Given the description of an element on the screen output the (x, y) to click on. 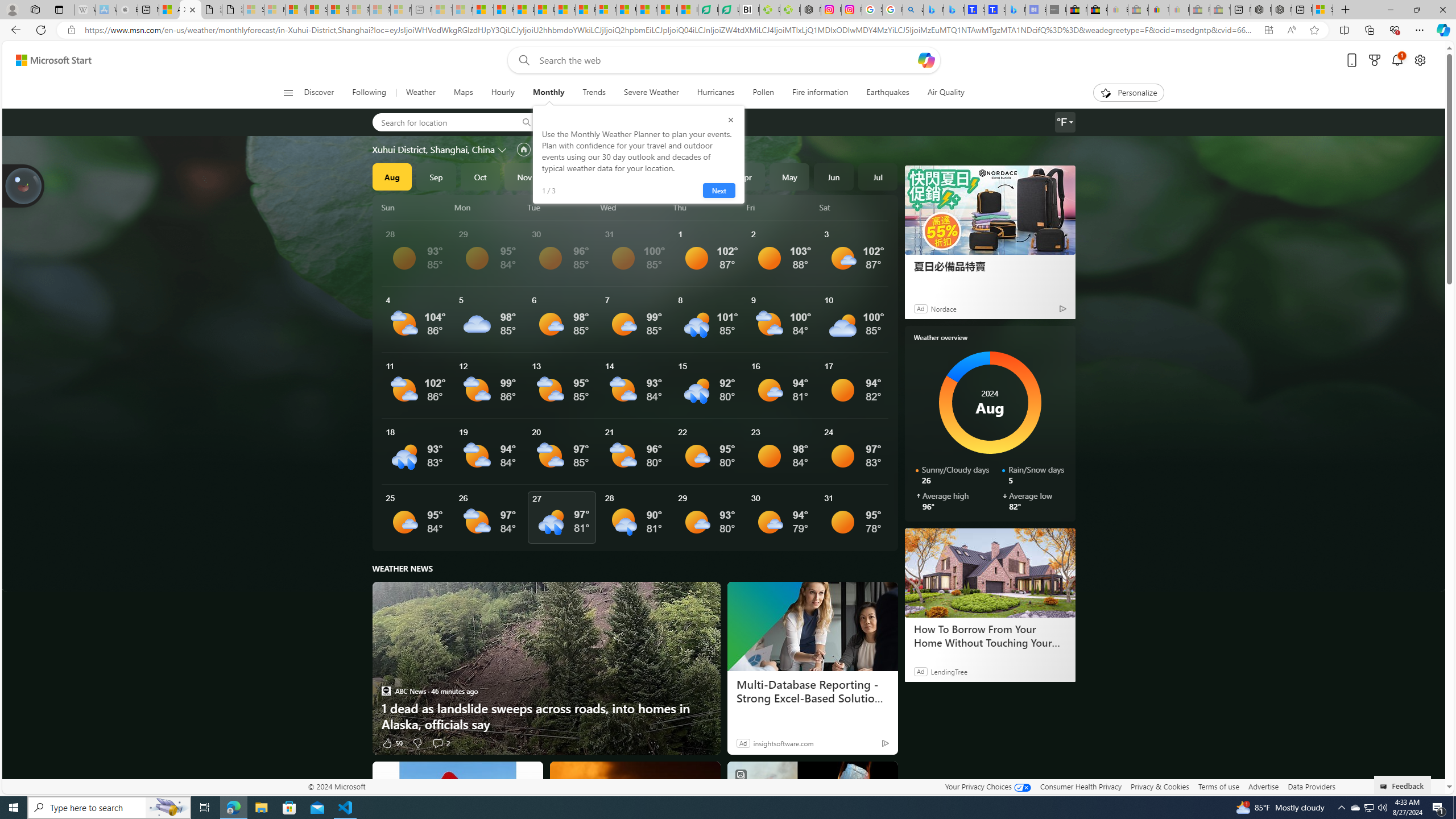
Maps (462, 92)
Air Quality (940, 92)
Microsoft Bing Travel - Flights from Hong Kong to Bangkok (933, 9)
Yard, Garden & Outdoor Living - Sleeping (1219, 9)
Drinking tea every day is proven to delay biological aging (544, 9)
2025Jan (612, 176)
Join us in planting real trees to help our planet! (23, 185)
Monthly (547, 92)
Sun (416, 207)
